Given the description of an element on the screen output the (x, y) to click on. 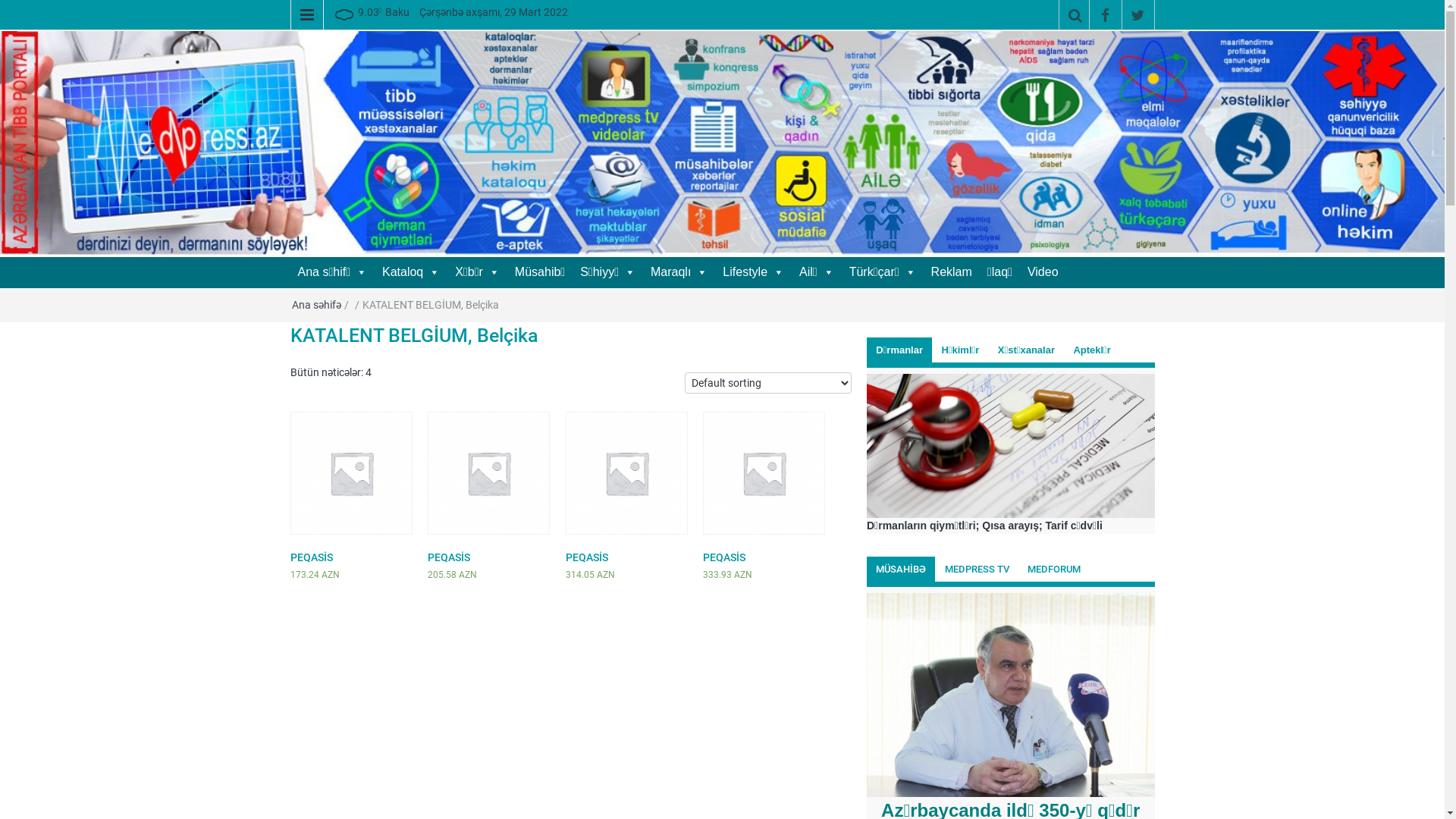
Lifestyle Element type: text (753, 272)
Video Element type: text (1042, 272)
Reklam Element type: text (951, 272)
MEDFORUM Element type: text (1053, 569)
Kataloq Element type: text (410, 272)
medpress.az Element type: text (504, 61)
medpress.az Element type: hover (722, 143)
MEDPRESS TV Element type: text (976, 569)
